Given the description of an element on the screen output the (x, y) to click on. 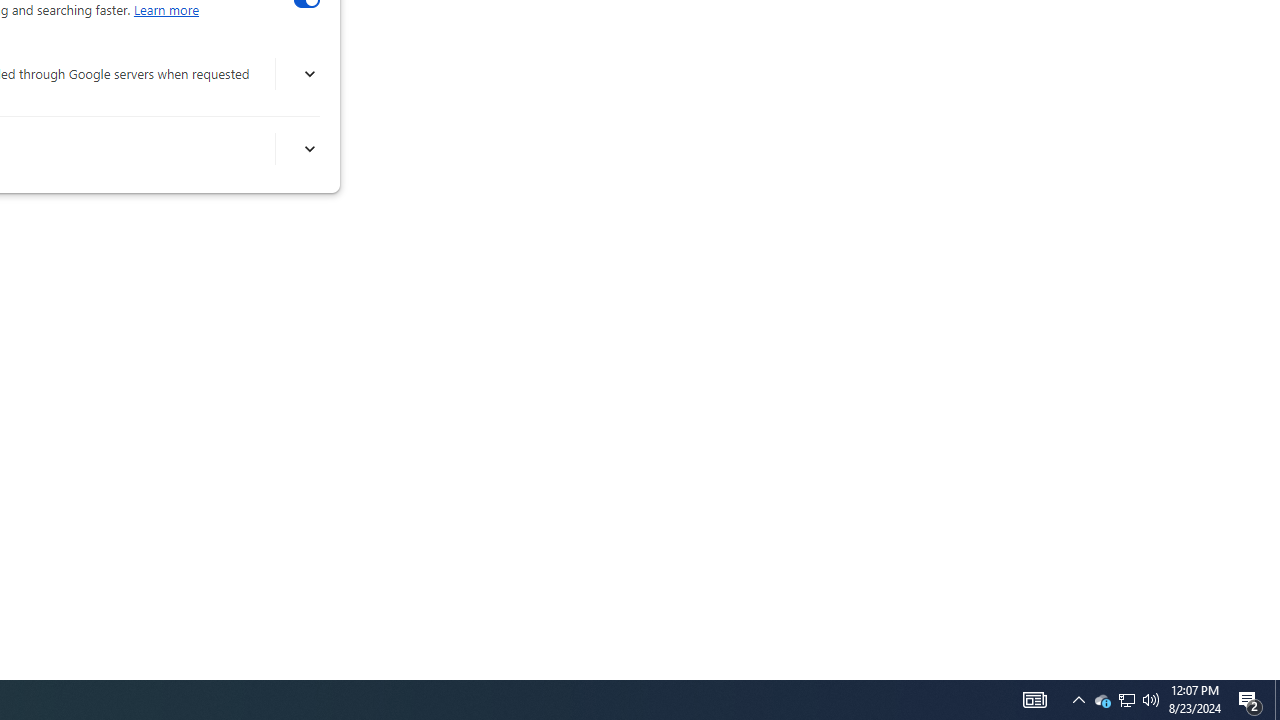
 More info about turning on extended preloading (308, 74)
 More info about turning on standard preloading (308, 149)
